Given the description of an element on the screen output the (x, y) to click on. 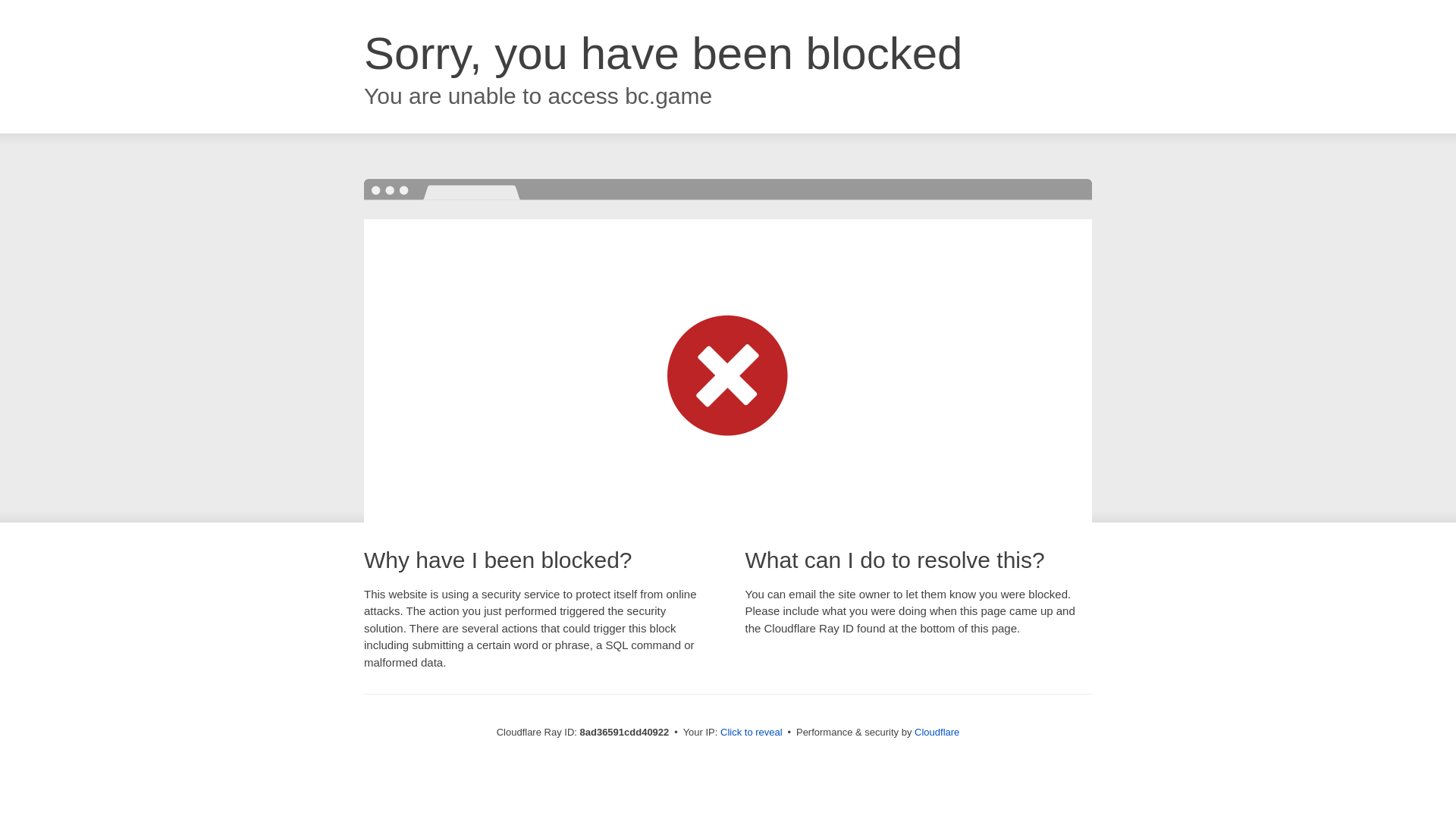
Click to reveal (751, 732)
Cloudflare (936, 731)
